Given the description of an element on the screen output the (x, y) to click on. 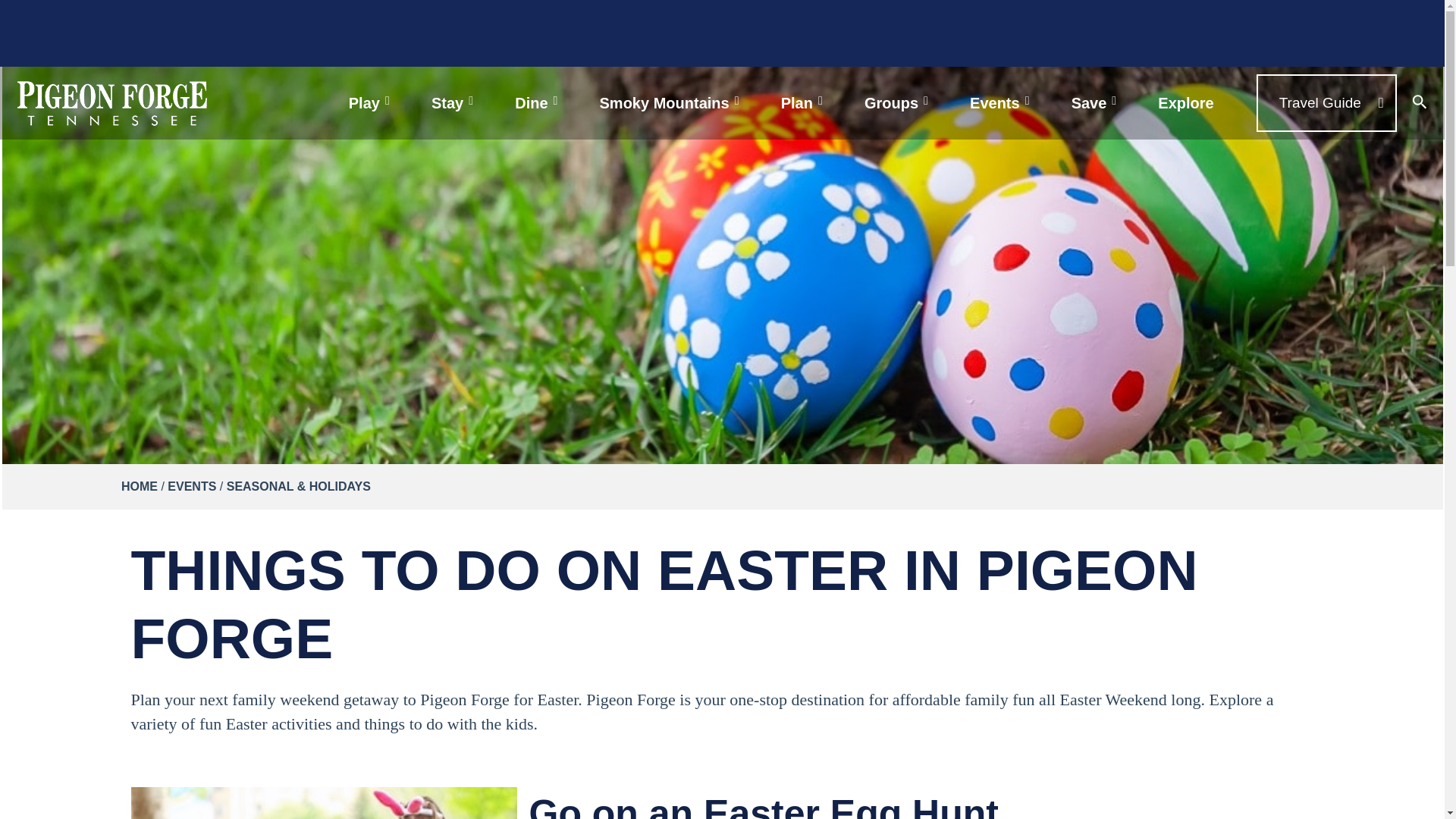
Smoky Mountains (670, 102)
Play (371, 102)
Stay (454, 102)
Dine (537, 102)
